Given the description of an element on the screen output the (x, y) to click on. 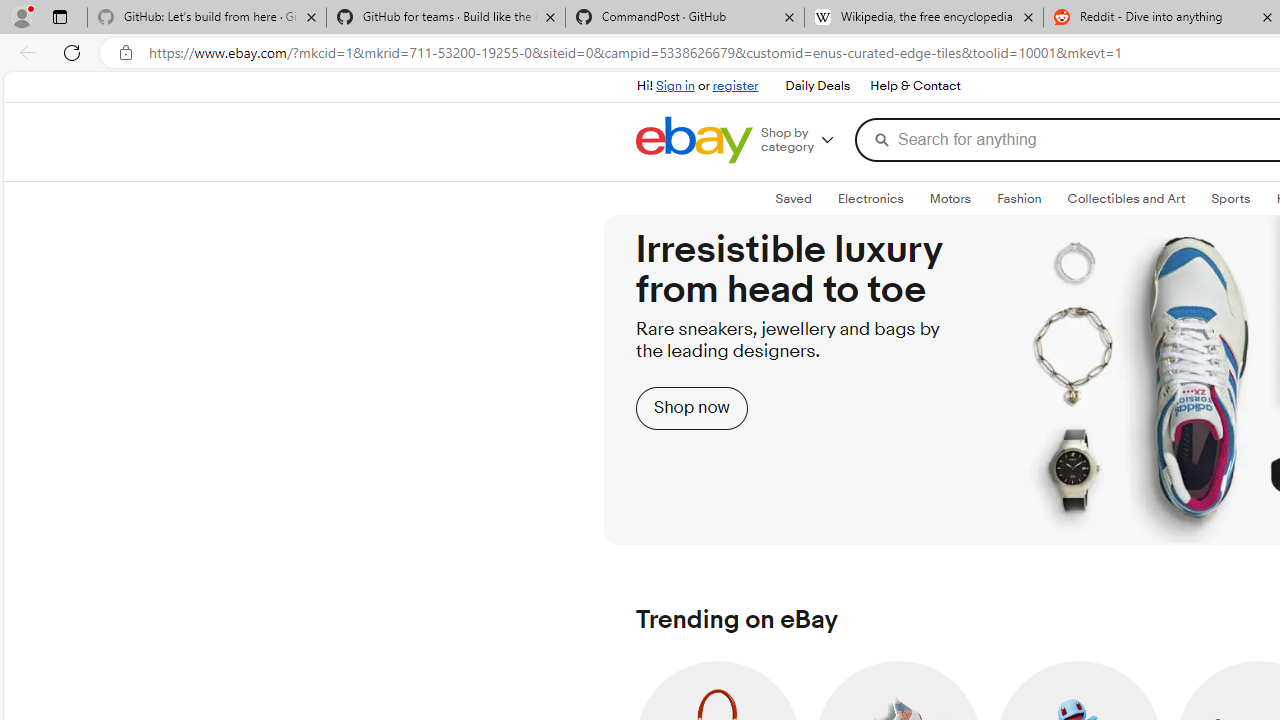
Daily Deals (817, 86)
